Given the description of an element on the screen output the (x, y) to click on. 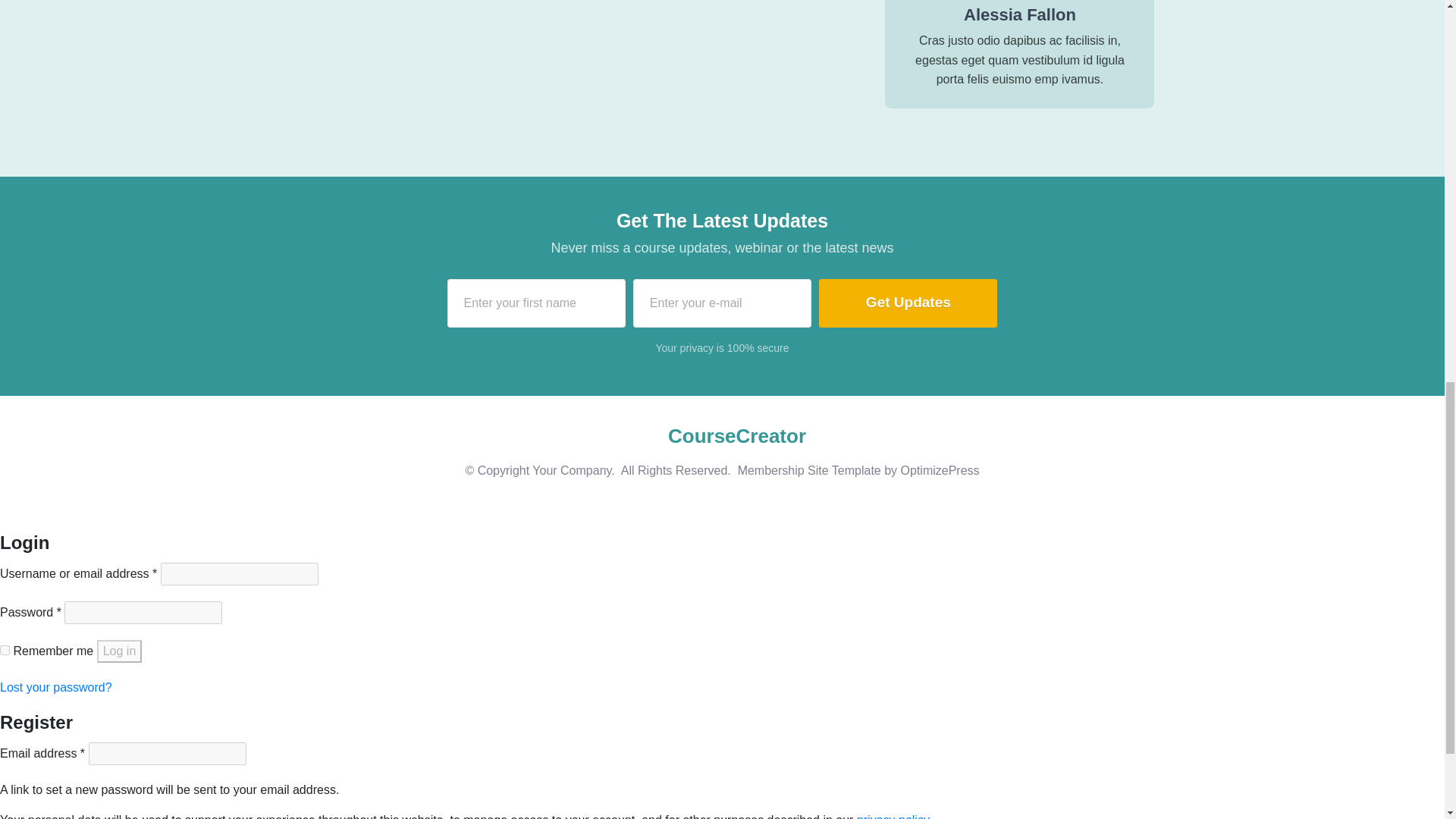
privacy policy (892, 816)
Log in (119, 650)
forever (5, 650)
Lost your password? (56, 686)
Membership Site Template (809, 470)
Get Updates (907, 303)
